Given the description of an element on the screen output the (x, y) to click on. 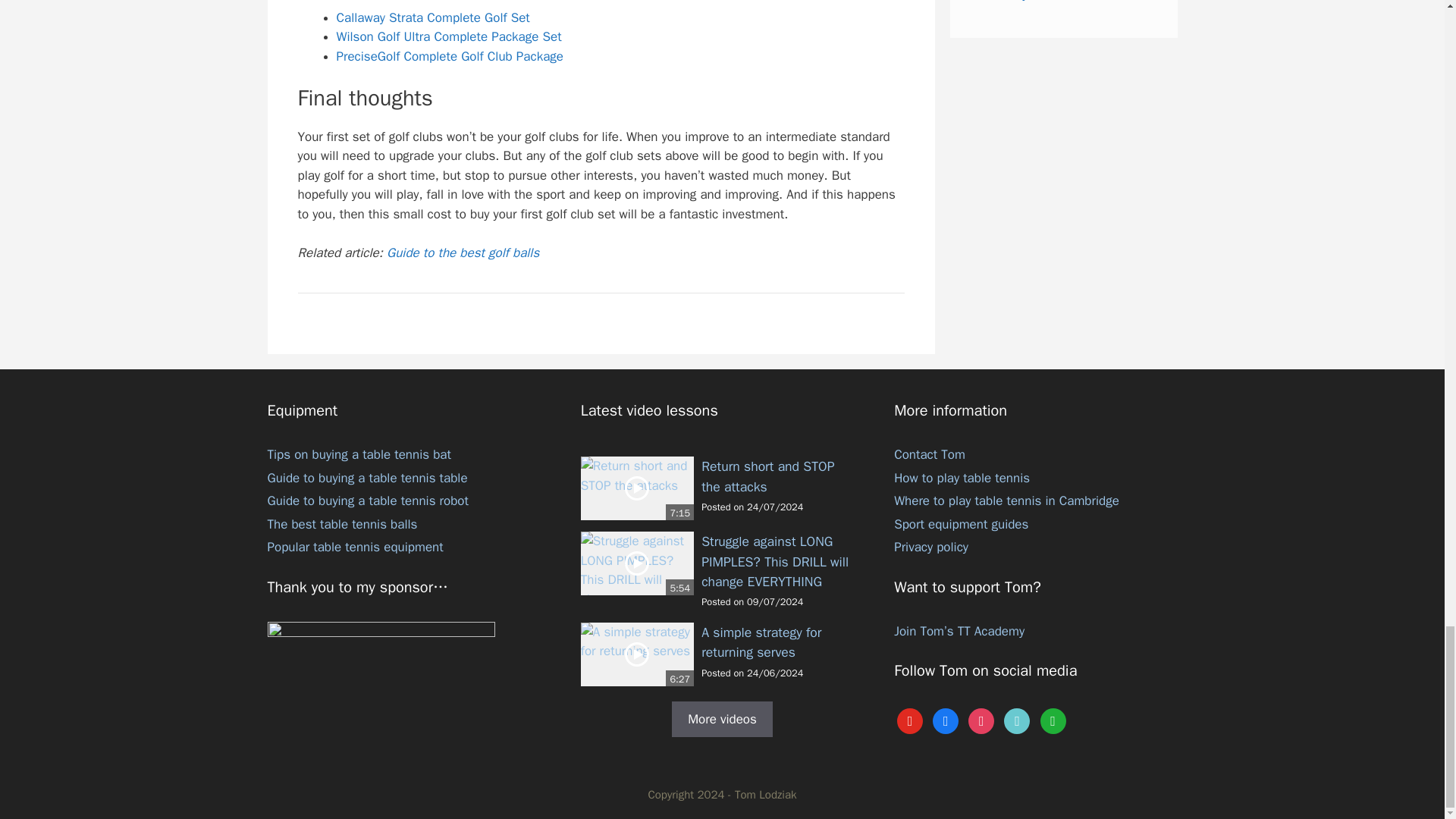
Facebook (945, 720)
Instagram (981, 720)
Wilson Golf Ultra Complete Package Set (449, 36)
Callaway Strata Complete Golf Set (432, 17)
